Given the description of an element on the screen output the (x, y) to click on. 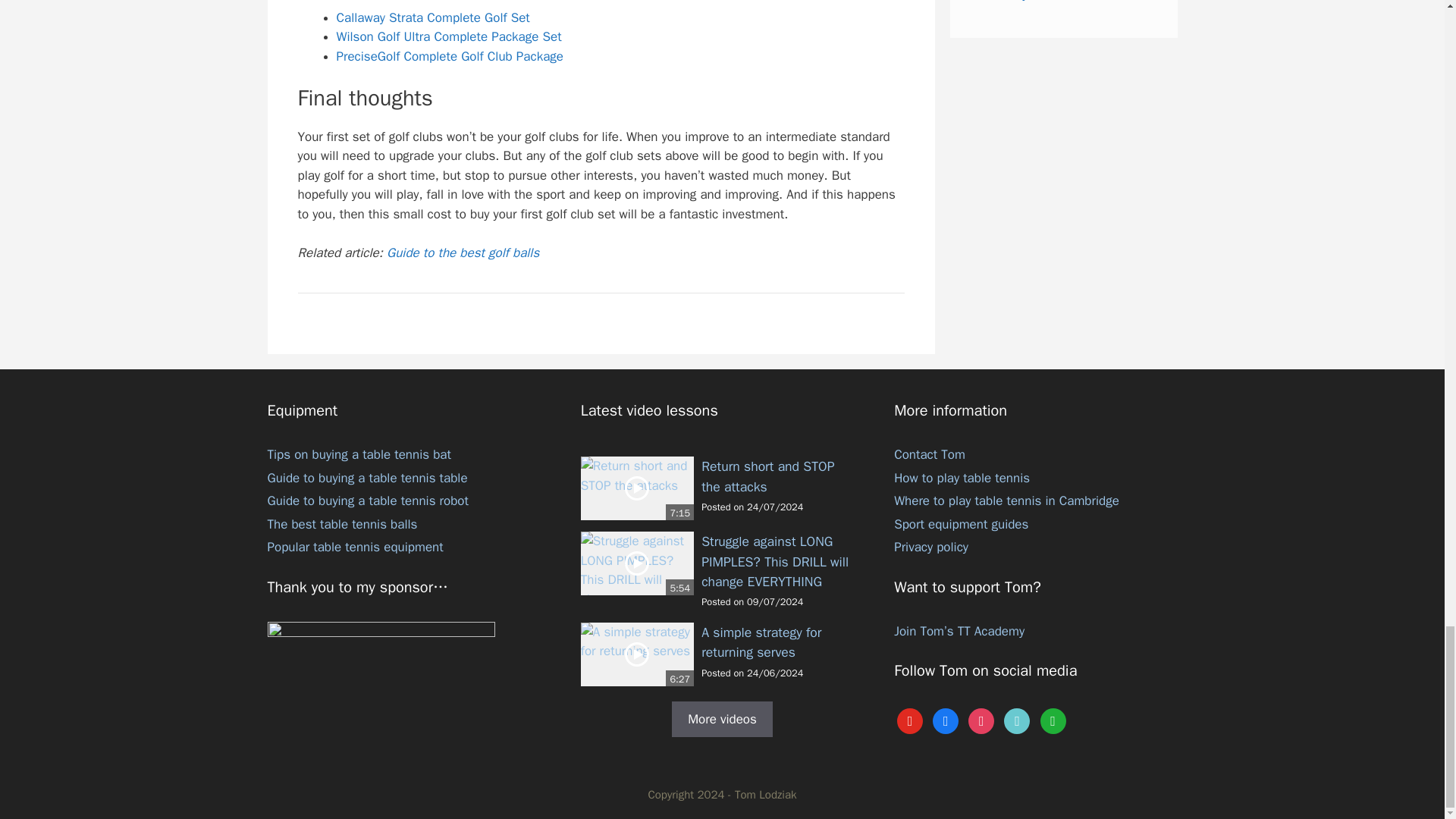
Facebook (945, 720)
Instagram (981, 720)
Wilson Golf Ultra Complete Package Set (449, 36)
Callaway Strata Complete Golf Set (432, 17)
